Given the description of an element on the screen output the (x, y) to click on. 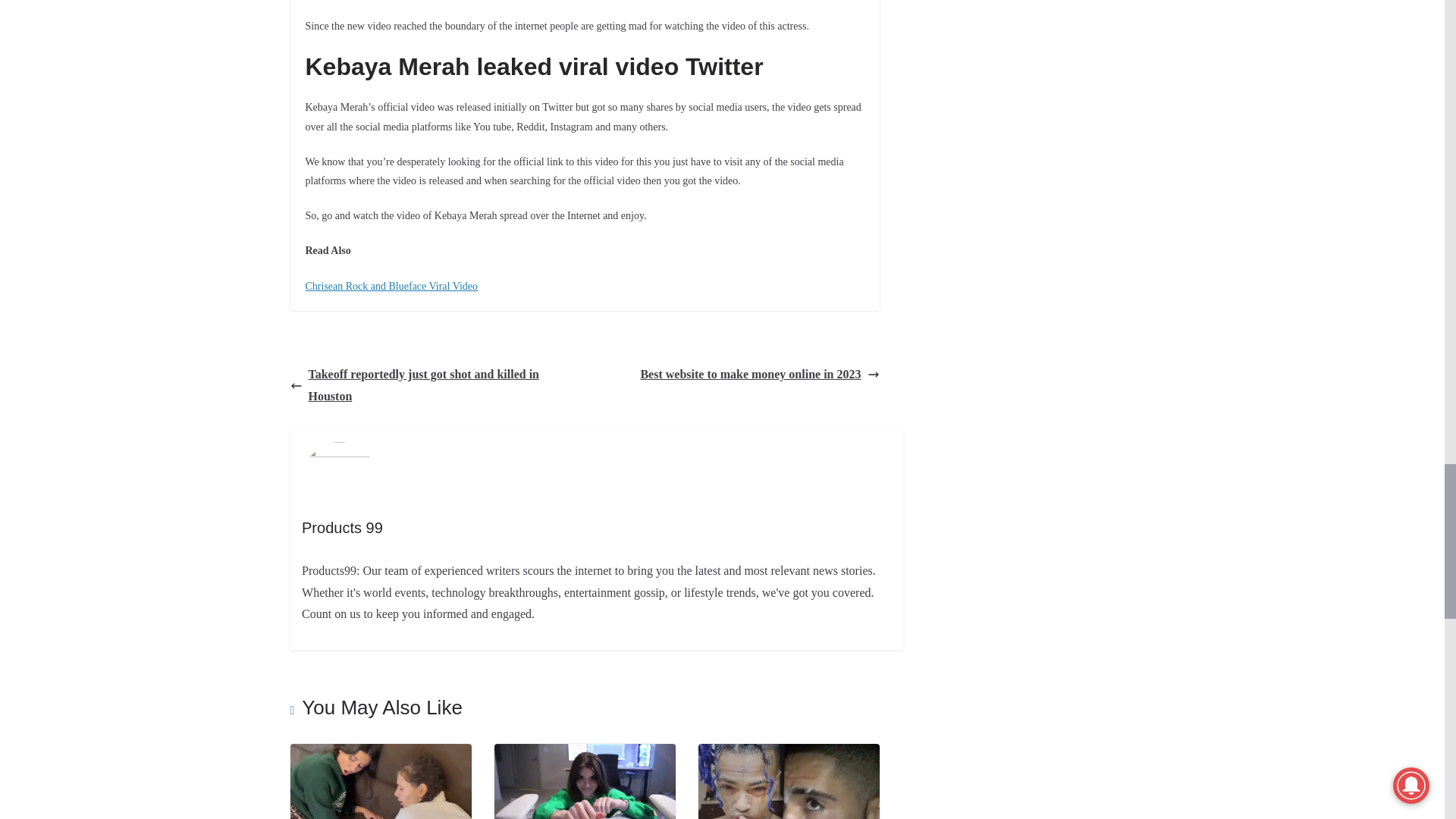
Aaliyah Massrock Live Video Twitter (379, 753)
Best website to make money online in 2023 (759, 374)
Chrisean Rock and Blueface Viral Video (390, 285)
Takeoff reportedly just got shot and killed in Houston (432, 385)
